Given the description of an element on the screen output the (x, y) to click on. 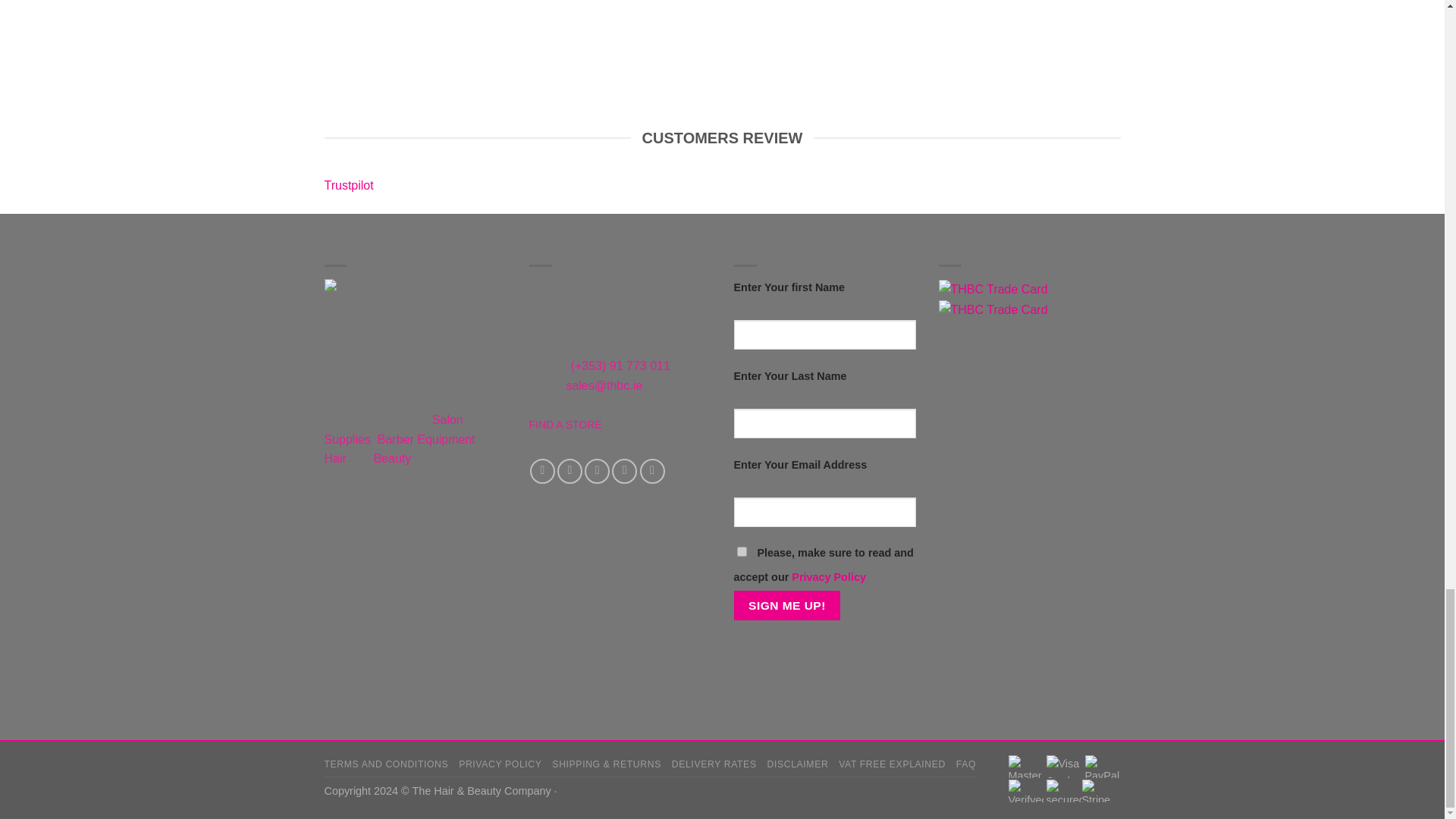
yes (741, 551)
SIGN ME UP! (787, 604)
